Given the description of an element on the screen output the (x, y) to click on. 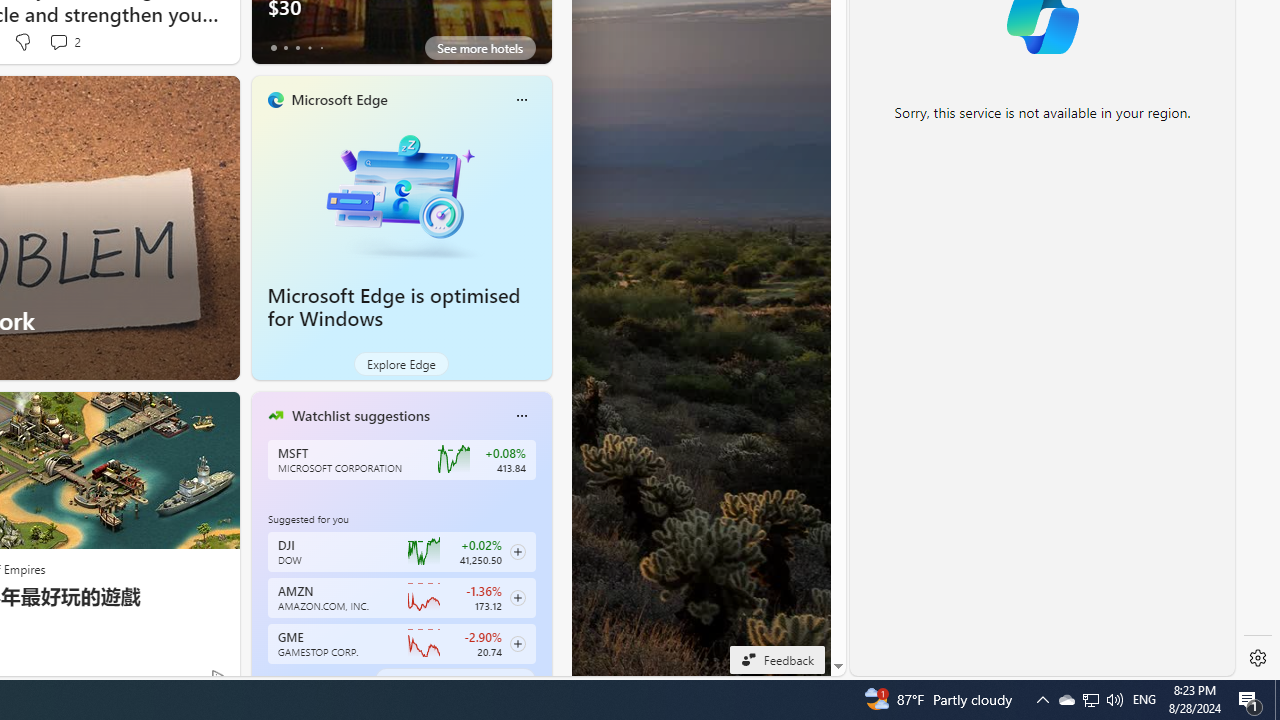
Watchlist suggestions (360, 415)
View comments 2 Comment (58, 41)
tab-1 (285, 679)
Microsoft Edge is optimised for Windows (401, 193)
tab-0 (273, 679)
tab-3 (309, 679)
See more hotels (479, 47)
